Given the description of an element on the screen output the (x, y) to click on. 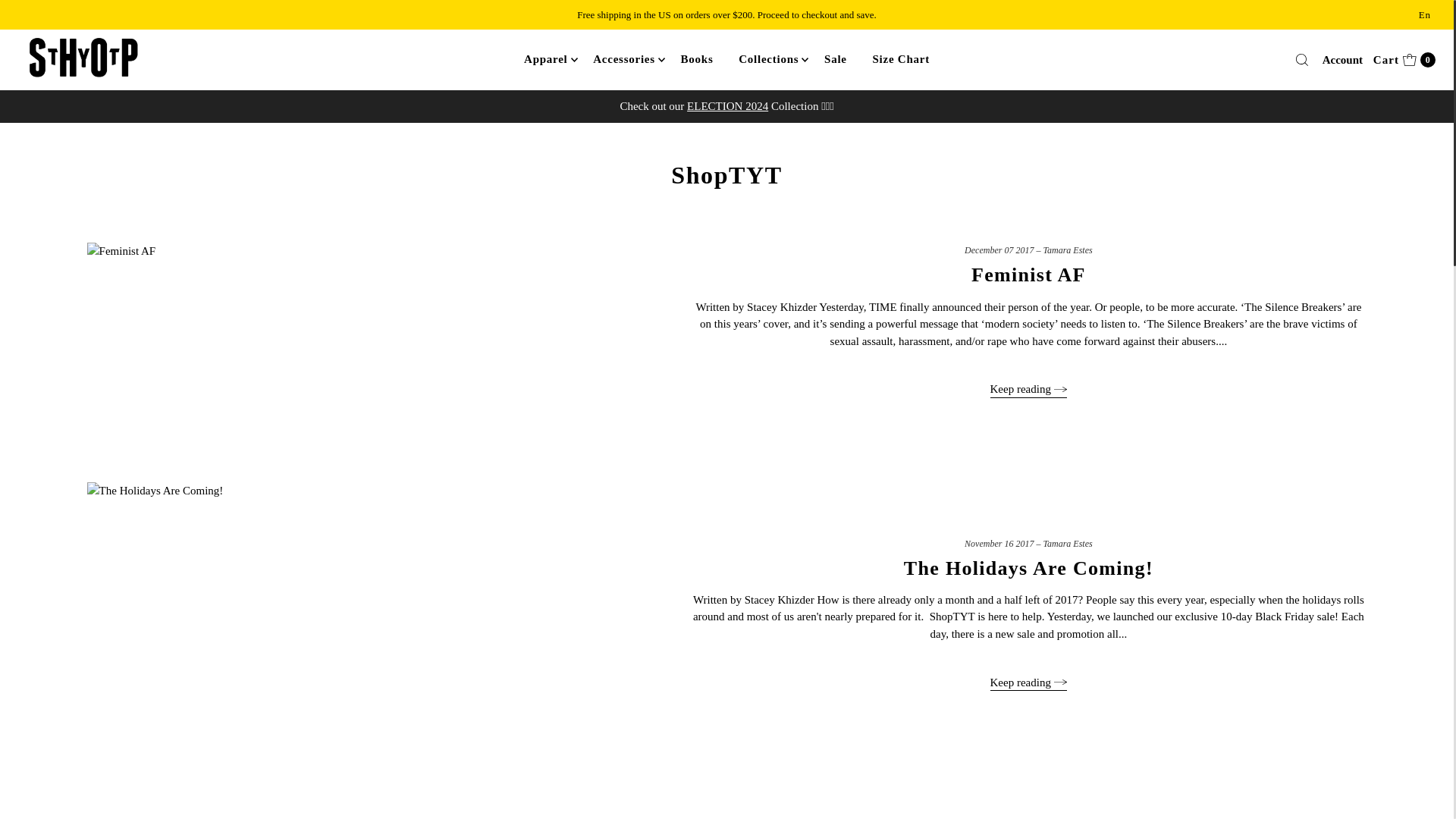
Apparel (545, 58)
Accessories (623, 58)
Canvass 2024 (727, 105)
